Given the description of an element on the screen output the (x, y) to click on. 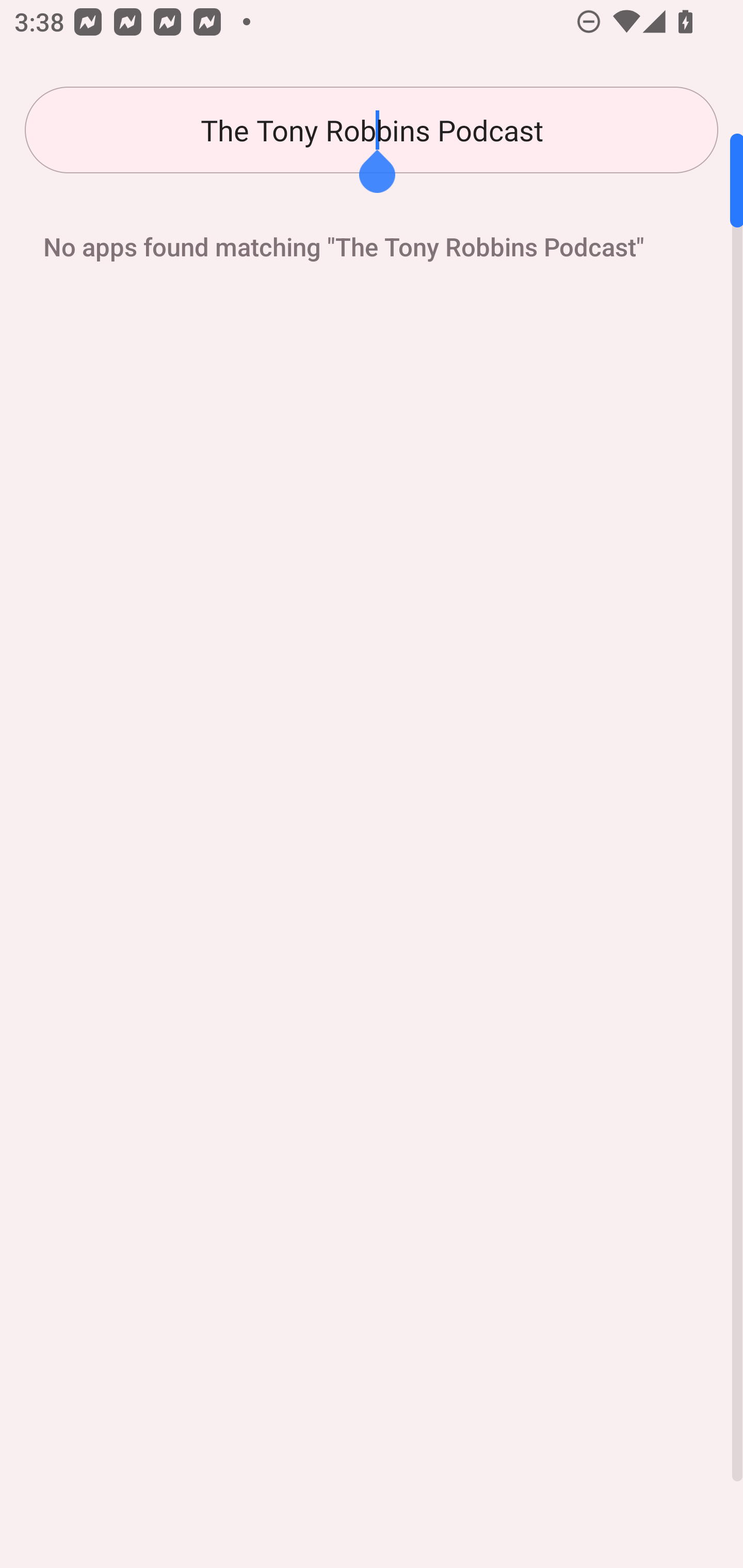
The Tony Robbins Podcast (371, 130)
